Given the description of an element on the screen output the (x, y) to click on. 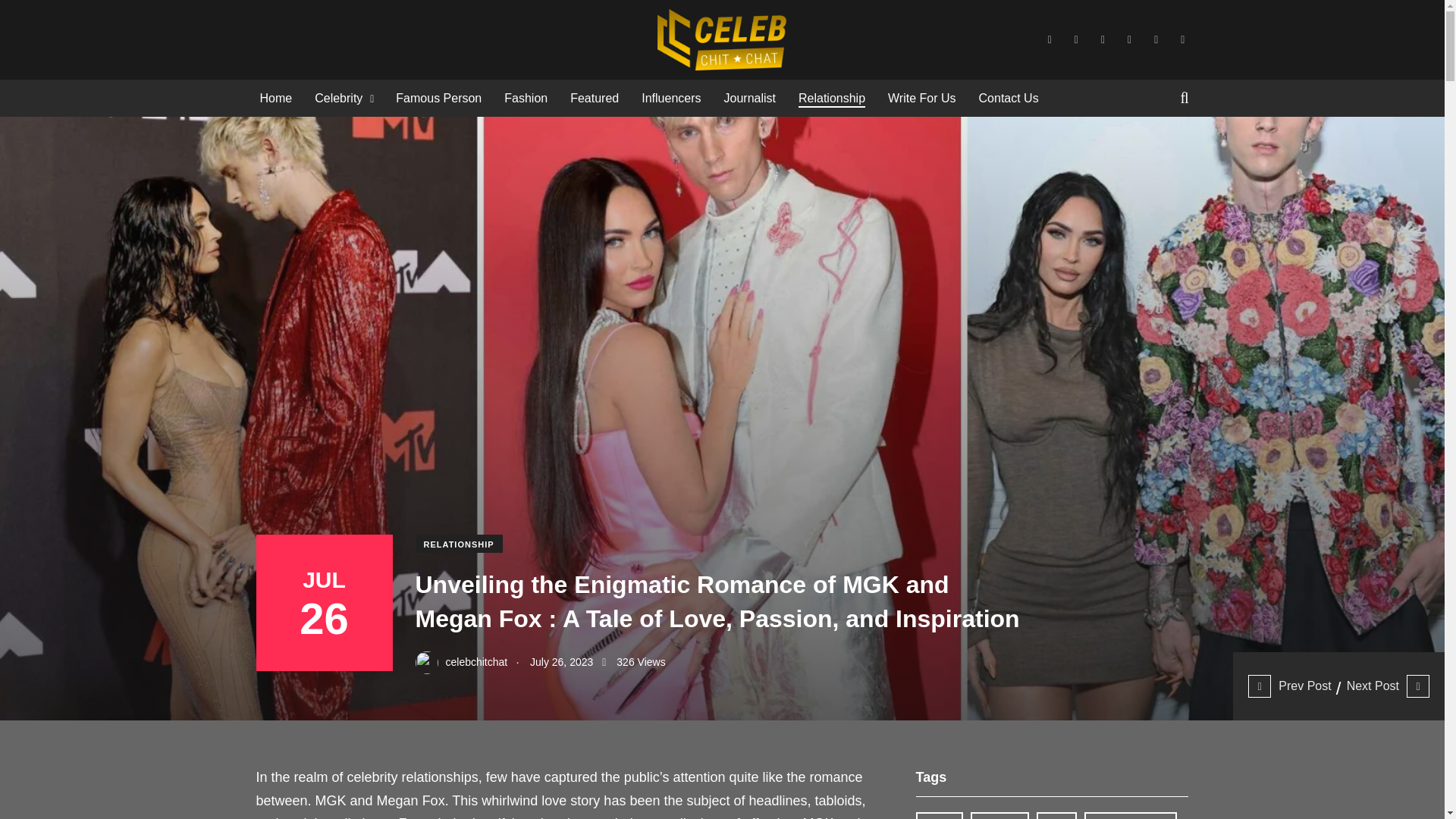
Featured (594, 98)
Influencers (671, 98)
Contact Us (1008, 98)
celebchitchat (461, 662)
Relationship (365, 23)
celebchitchat (287, 23)
Write For Us (921, 98)
Go to the Relationship Category archives. (365, 23)
Home (275, 98)
Celebrity (338, 98)
